Given the description of an element on the screen output the (x, y) to click on. 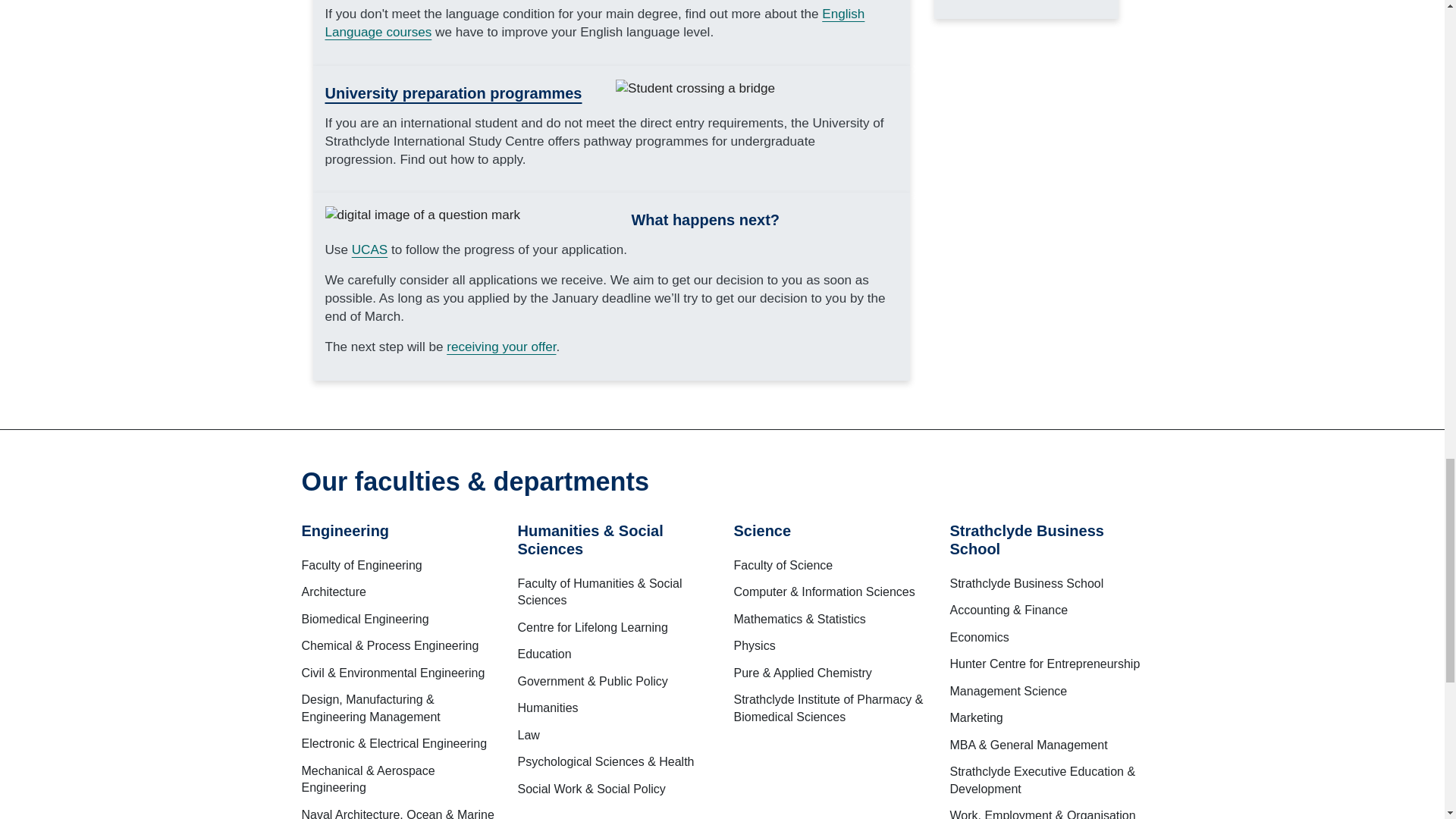
digital image of a question mark (421, 215)
Student crossing a bridge (694, 88)
